Given the description of an element on the screen output the (x, y) to click on. 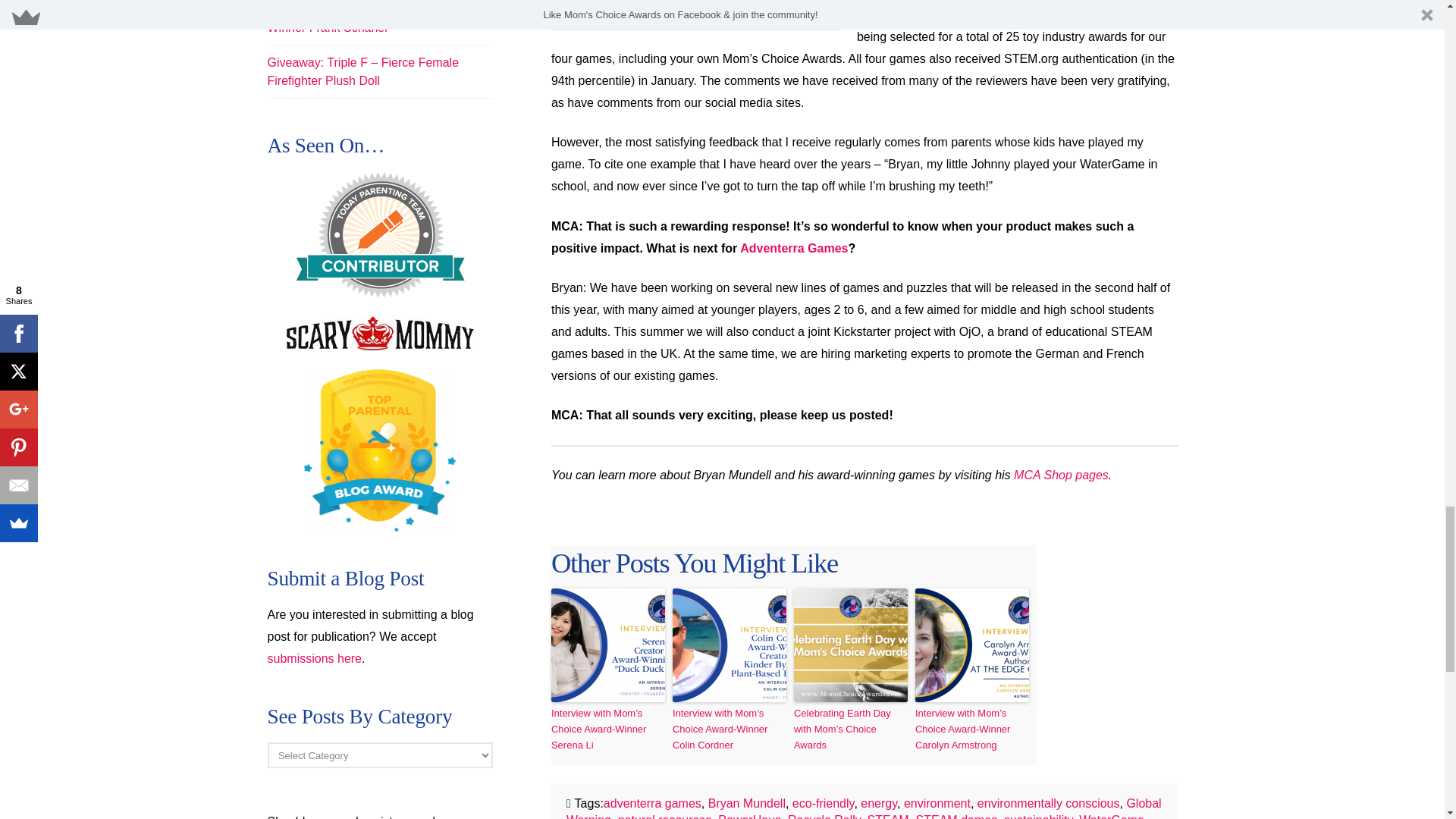
MCA Shop pages (1060, 474)
Bryan Mundell (746, 802)
adventerra games (652, 802)
Adventerra Games (793, 247)
